Given the description of an element on the screen output the (x, y) to click on. 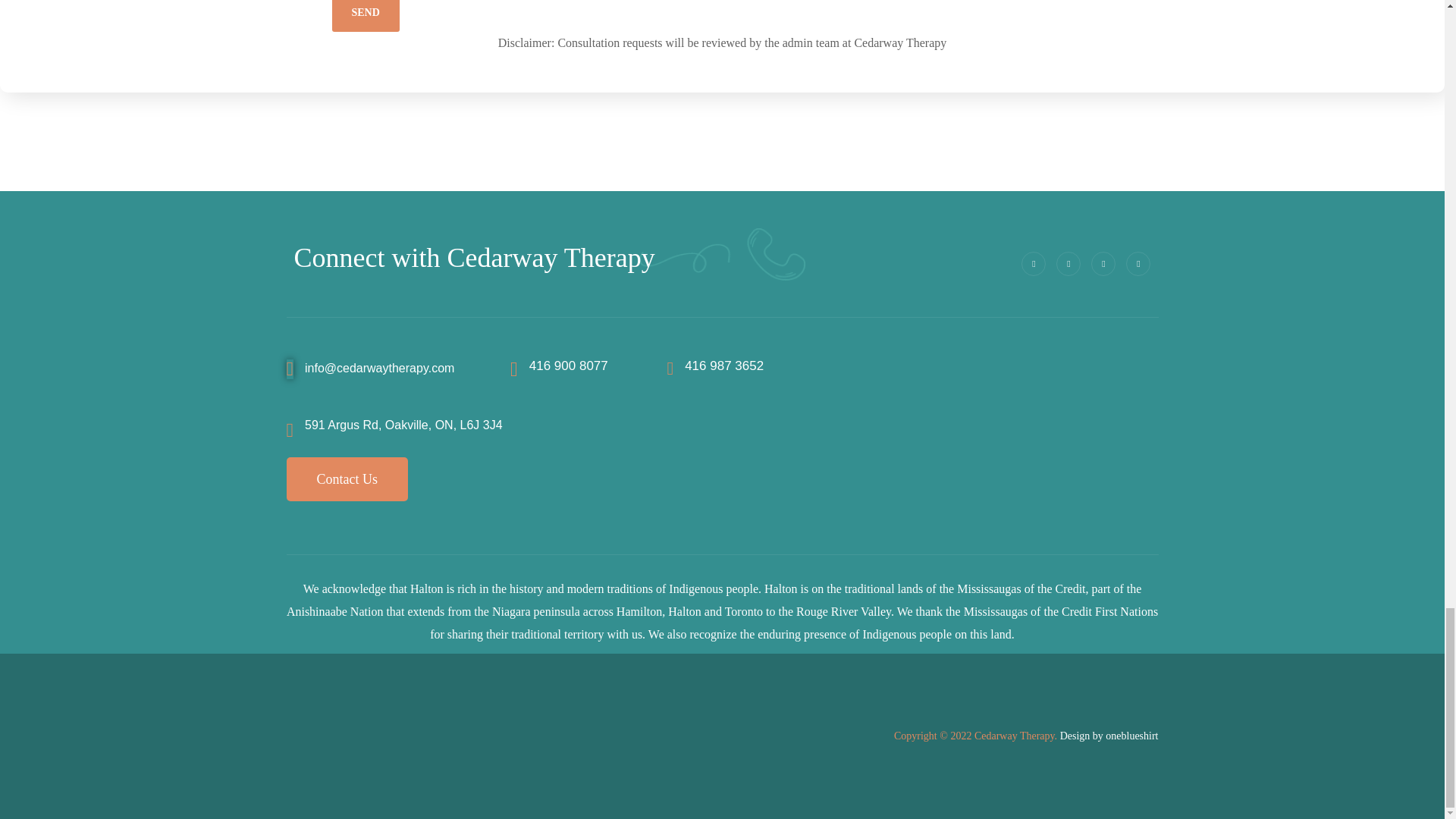
Linkedin (1102, 263)
Cedar Way Logo Tealwhite (399, 736)
Youtube (1137, 263)
Instagram (1033, 263)
Facebook (1068, 263)
Send (364, 15)
